Given the description of an element on the screen output the (x, y) to click on. 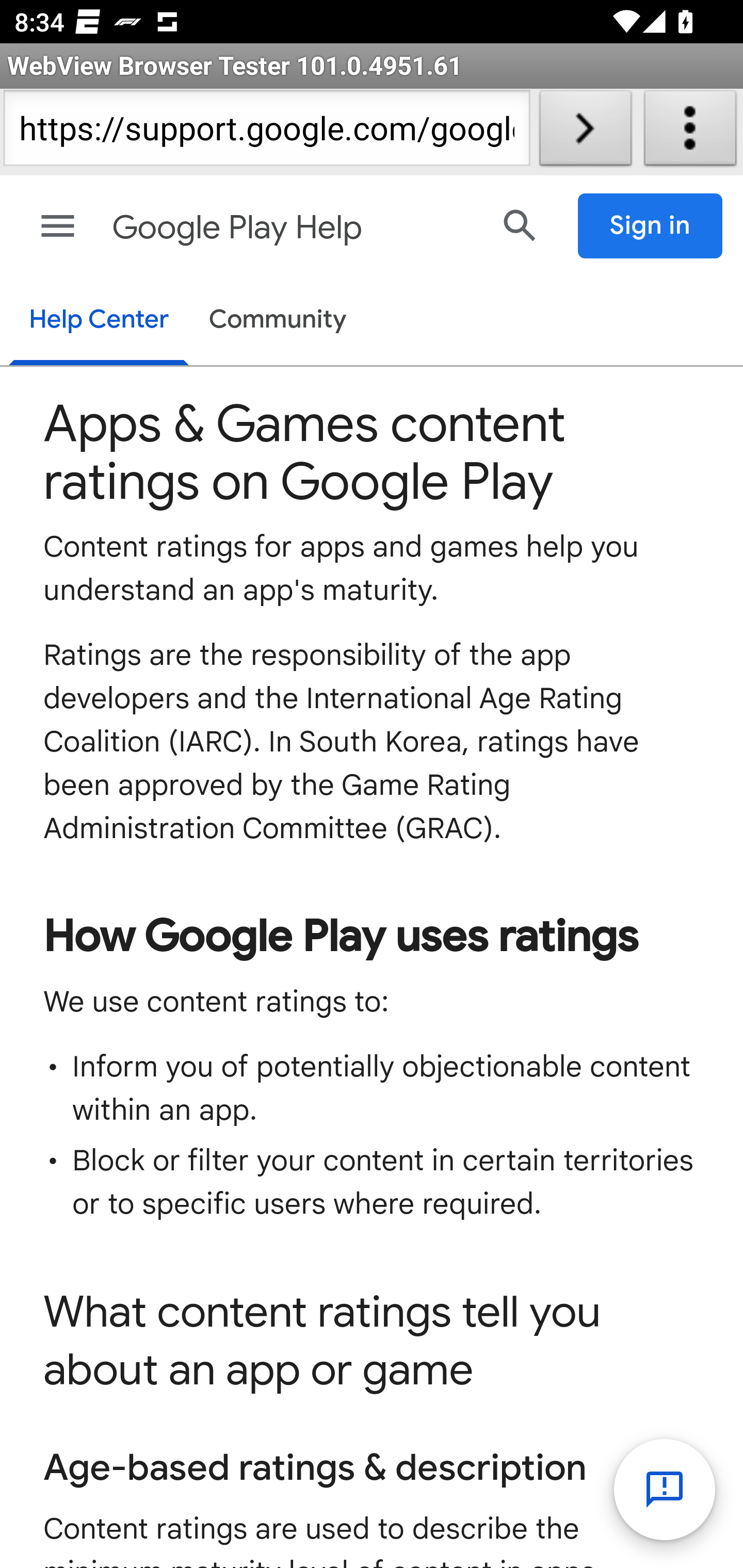
Load URL (585, 132)
About WebView (690, 132)
Main menu (58, 226)
Google Play Help (292, 227)
Search Help Center (519, 225)
Sign in (650, 226)
Help Center (98, 320)
Community (277, 320)
